Given the description of an element on the screen output the (x, y) to click on. 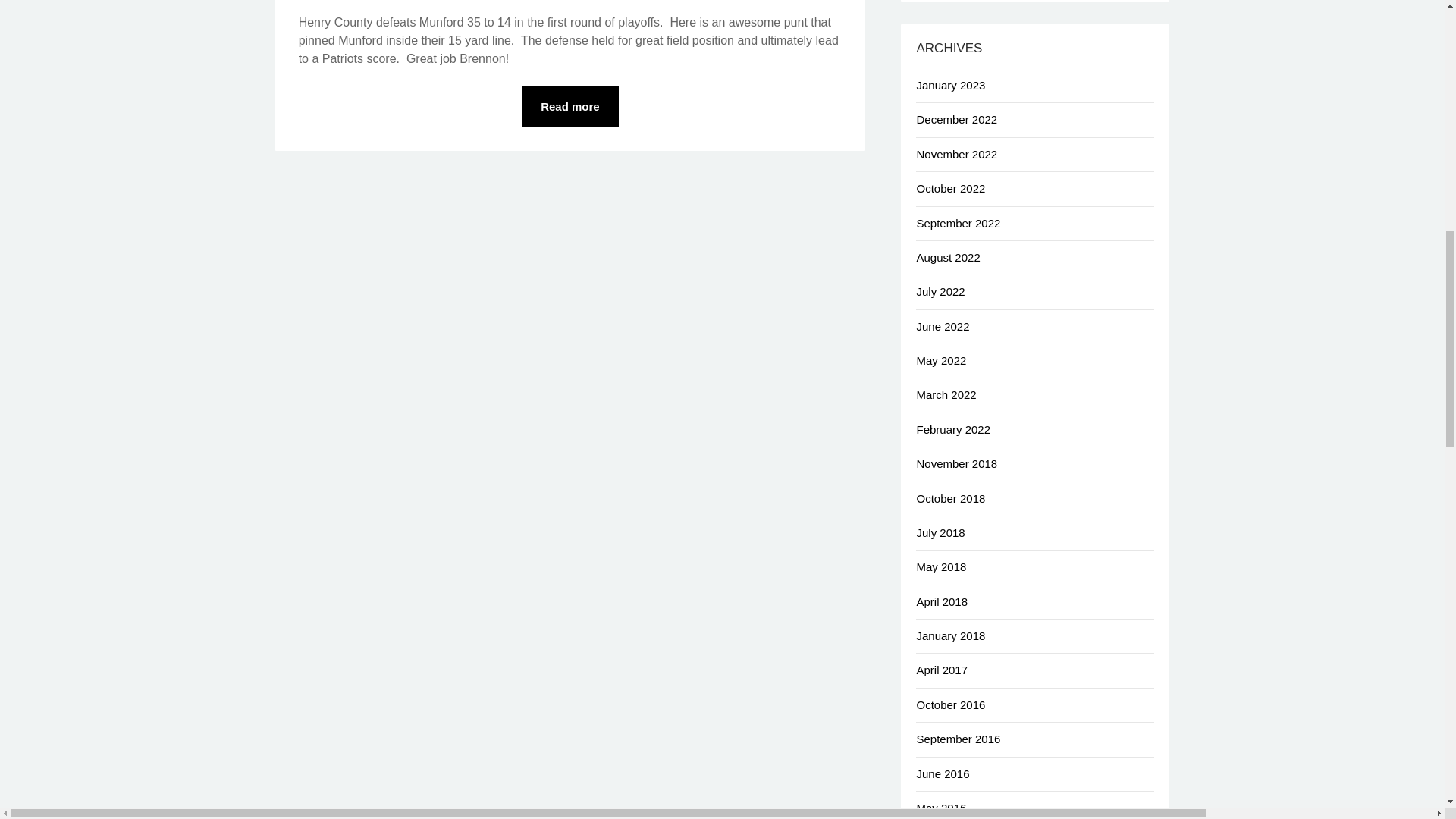
October 2018 (950, 498)
January 2018 (950, 635)
September 2016 (957, 738)
July 2022 (939, 291)
May 2016 (940, 807)
Read more (569, 106)
May 2022 (940, 359)
December 2022 (956, 119)
May 2018 (940, 566)
October 2016 (950, 704)
